Given the description of an element on the screen output the (x, y) to click on. 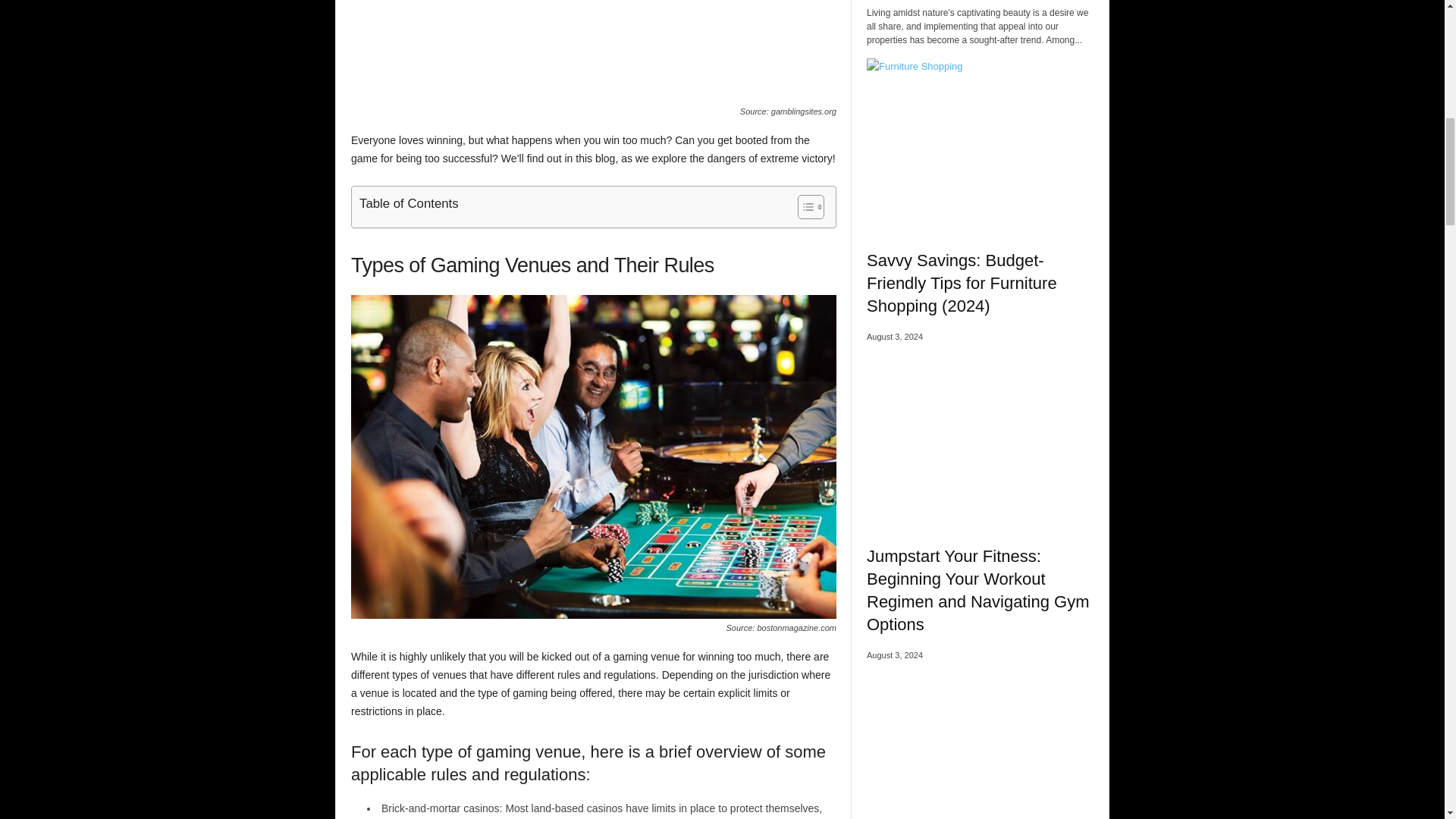
gambling (592, 51)
